Given the description of an element on the screen output the (x, y) to click on. 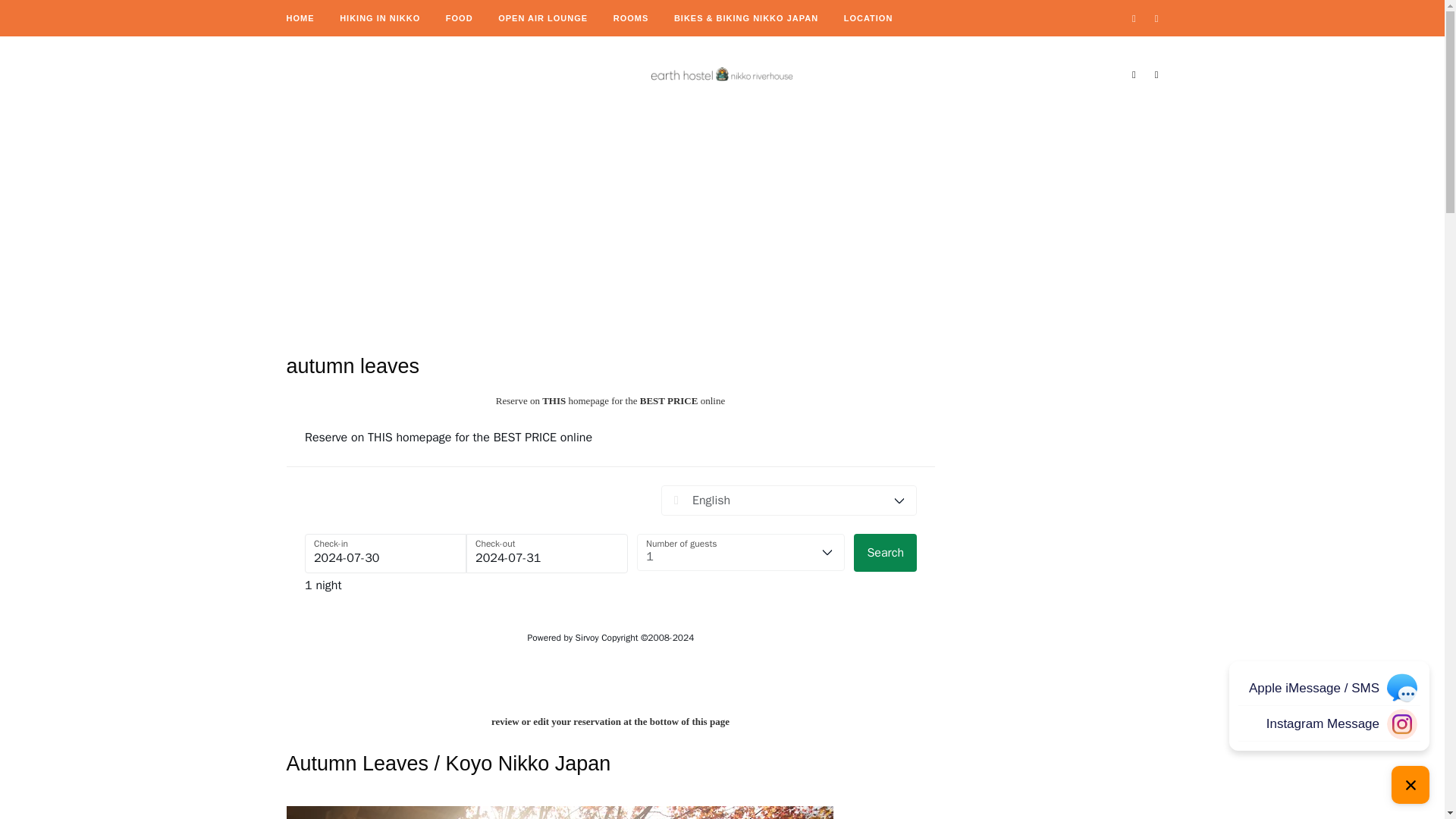
wp-bit-assist (1329, 732)
HIKING IN NIKKO (379, 18)
ROOMS (630, 18)
LOCATION (868, 18)
OPEN AIR LOUNGE (542, 18)
